Given the description of an element on the screen output the (x, y) to click on. 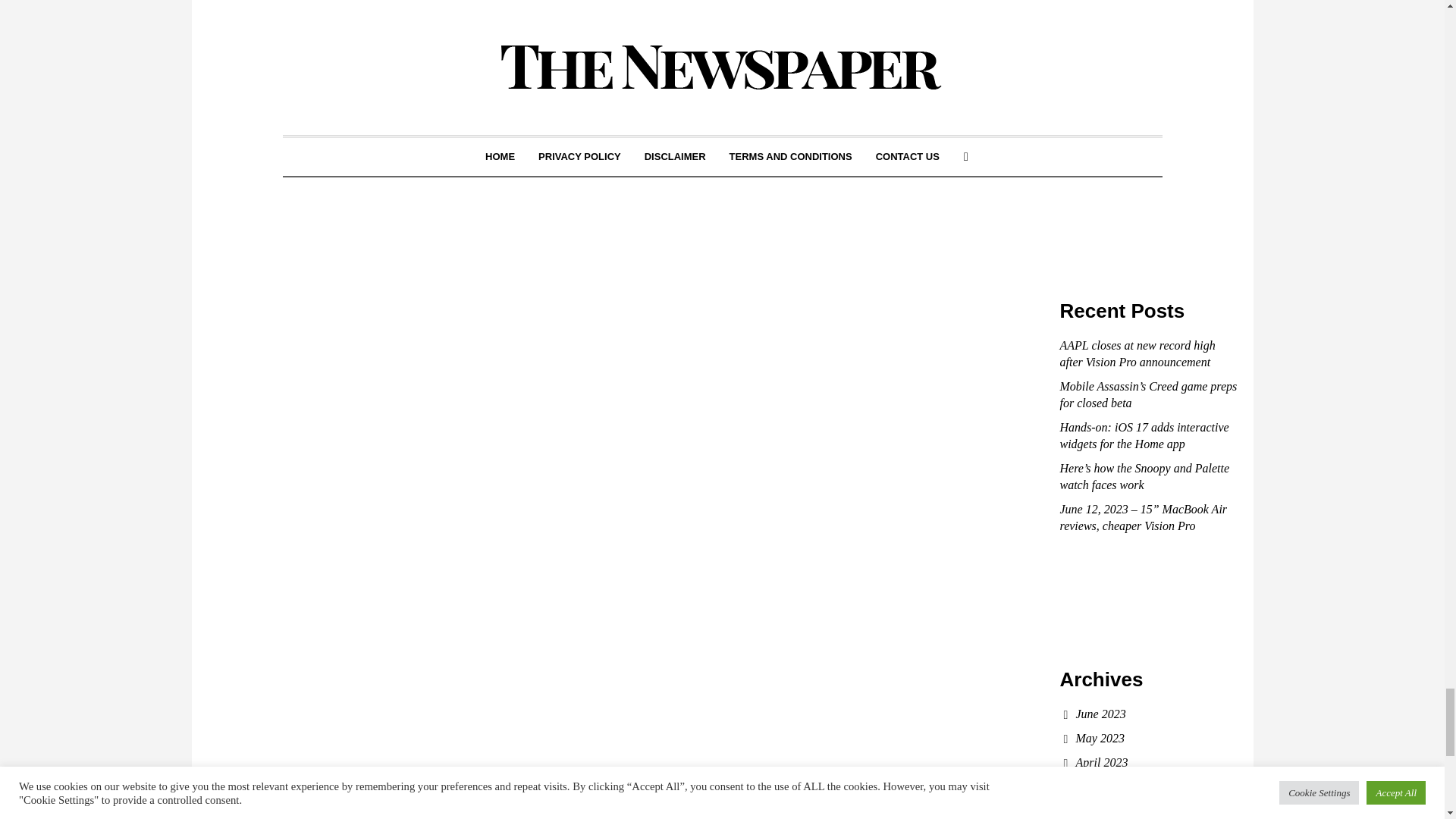
AAPL closes at new record high after Vision Pro announcement (1137, 353)
April 2023 (1100, 762)
February 2023 (1111, 810)
May 2023 (1099, 738)
Hands-on: iOS 17 adds interactive widgets for the Home app (1143, 435)
SEARCH (1220, 145)
June 2023 (1100, 713)
March 2023 (1104, 786)
